Given the description of an element on the screen output the (x, y) to click on. 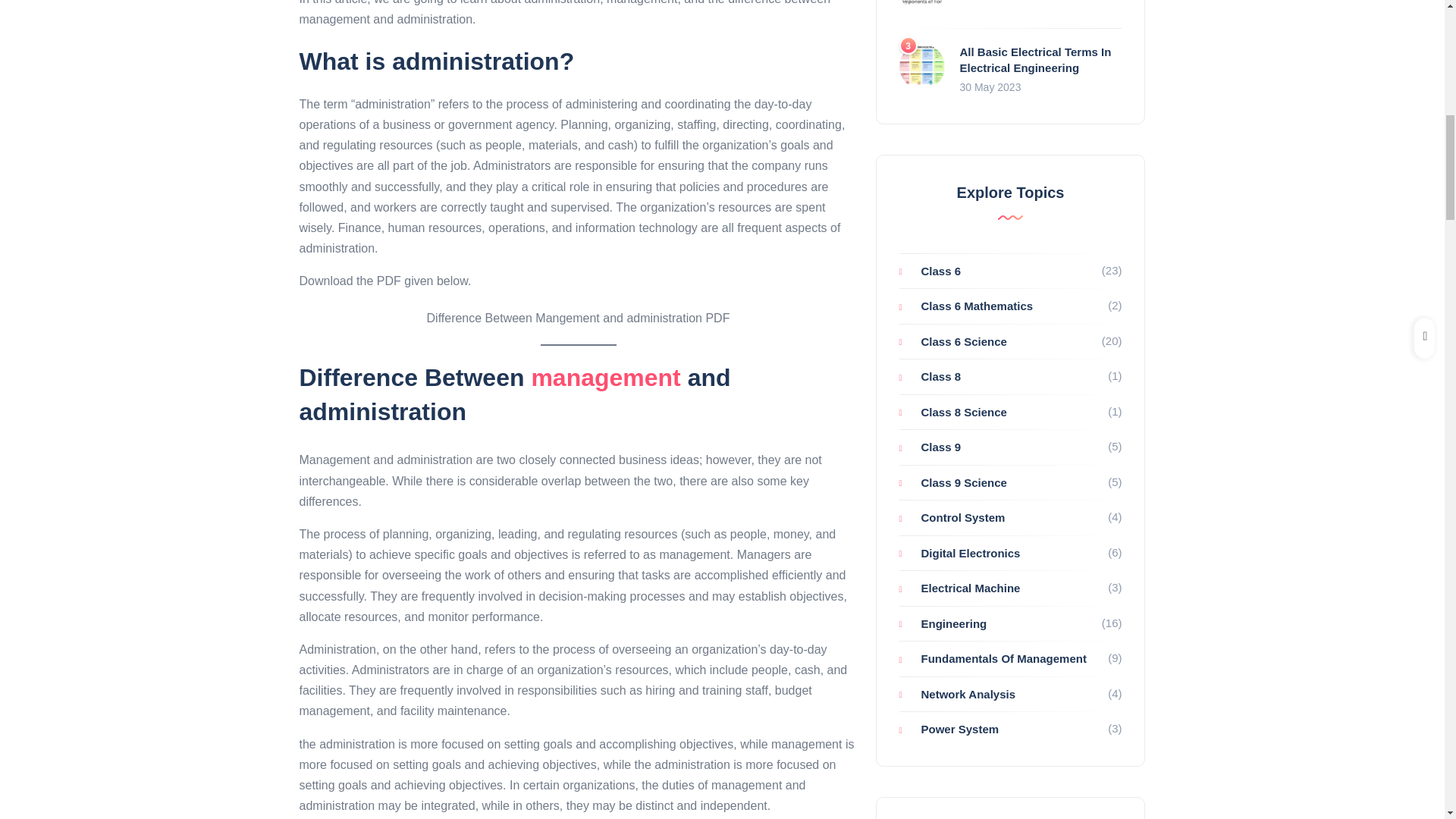
Components of Food 4 (921, 6)
management (605, 377)
Difference Between Mangement and administration PDF (577, 317)
